Given the description of an element on the screen output the (x, y) to click on. 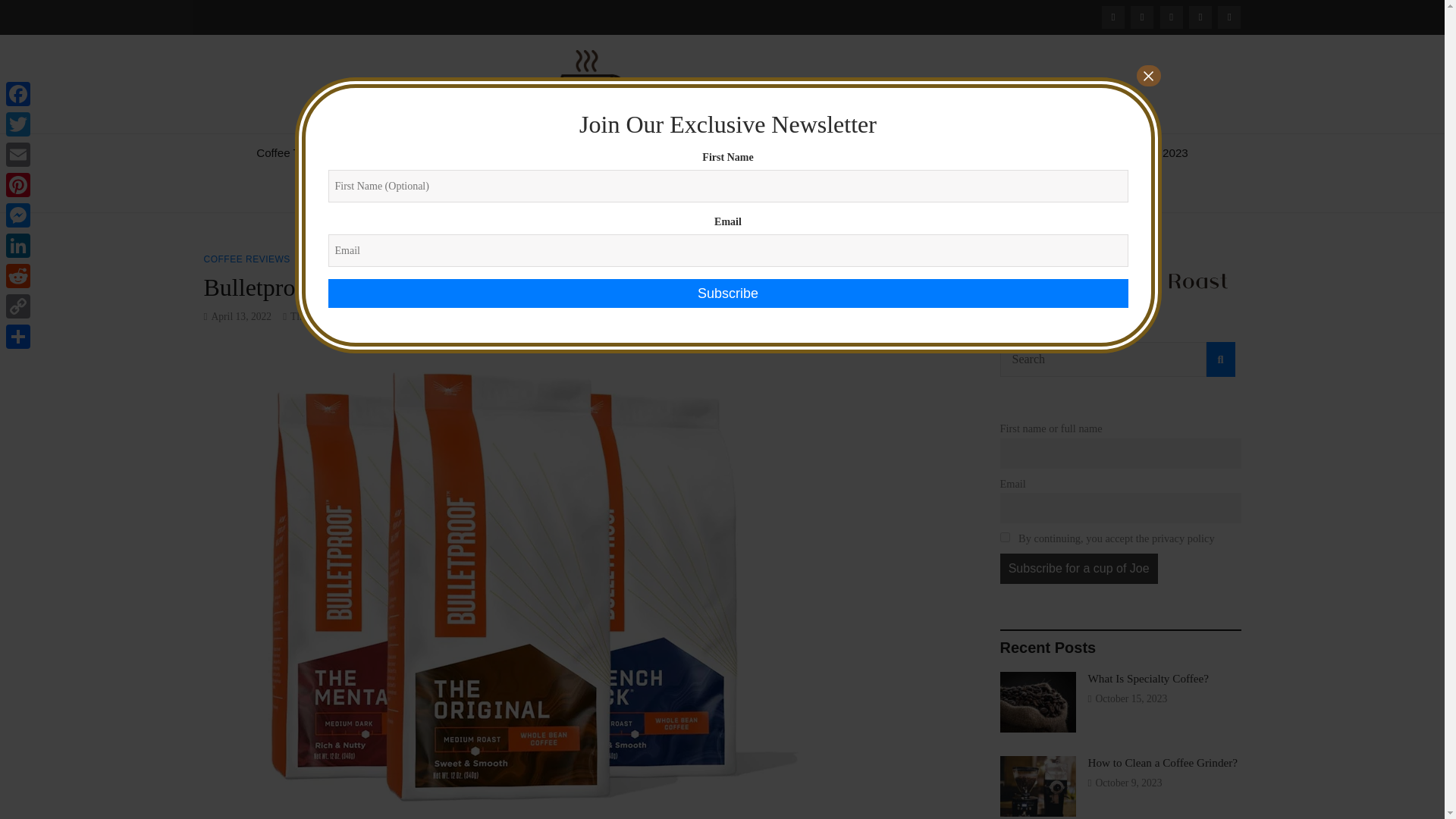
Subscribe for a cup of Joe (1077, 568)
Coffee Trends (291, 152)
Reddit (17, 276)
Email (17, 154)
LinkedIn (17, 245)
Coffee of the World (507, 152)
Guides (601, 152)
Pinterest (17, 184)
The Finest Roast (349, 139)
Messenger (17, 214)
Twitter (17, 123)
Facebook (17, 93)
on (1003, 537)
Copy Link (17, 306)
Coffee Recipes (394, 152)
